Given the description of an element on the screen output the (x, y) to click on. 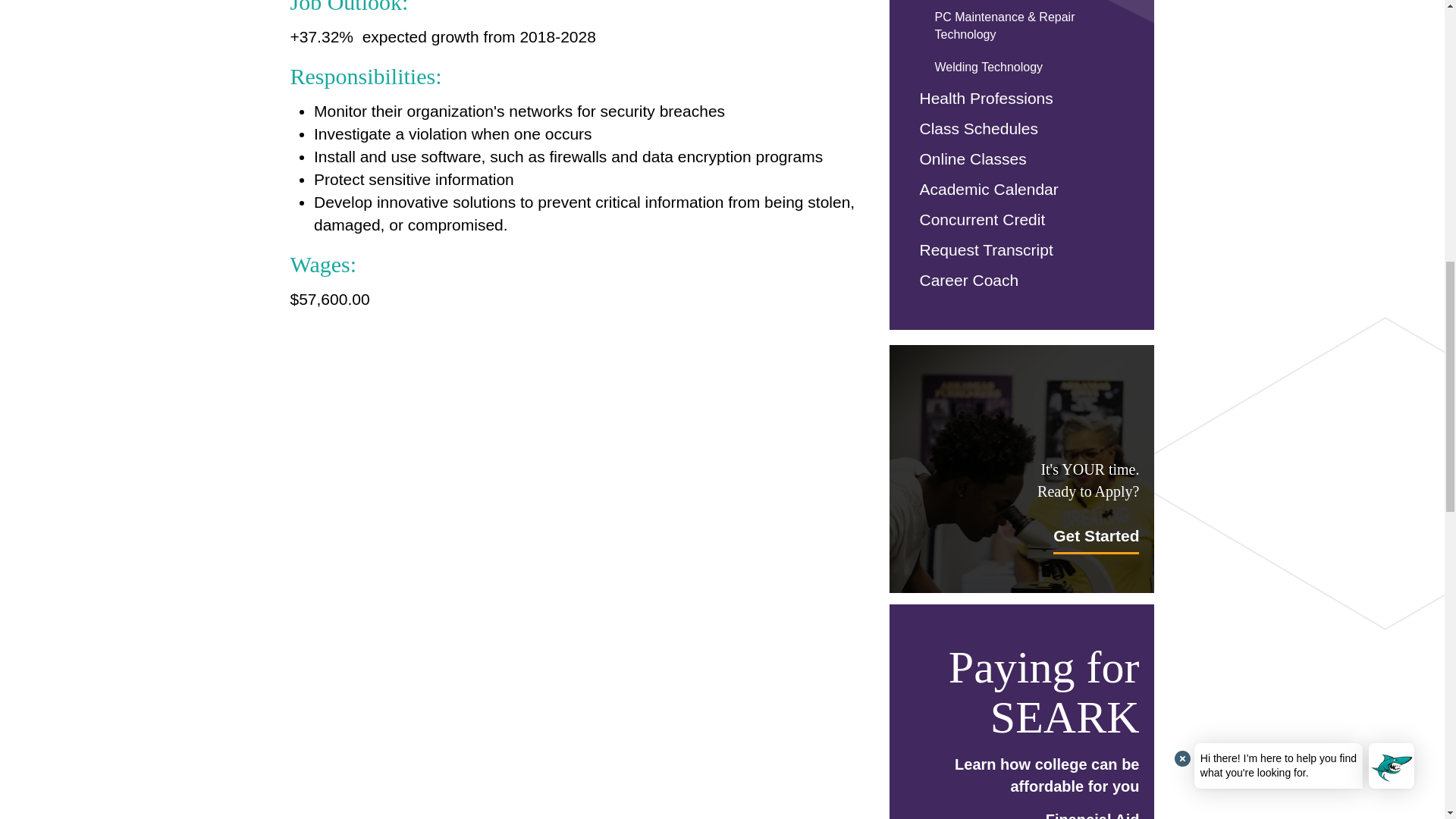
seark widget (574, 382)
